Given the description of an element on the screen output the (x, y) to click on. 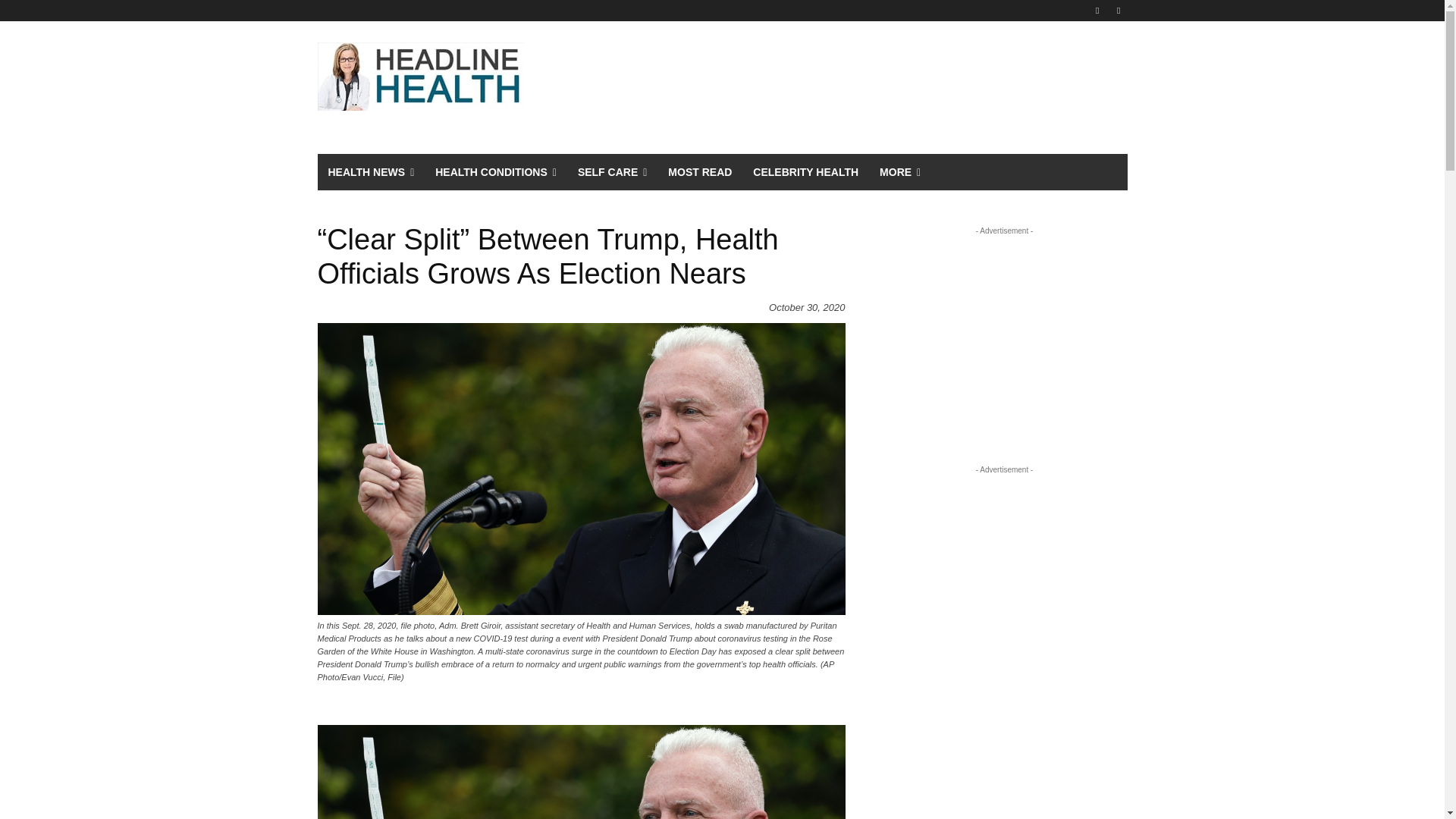
Facebook (1097, 9)
Advertisement (1003, 333)
Twitter (1117, 9)
